Given the description of an element on the screen output the (x, y) to click on. 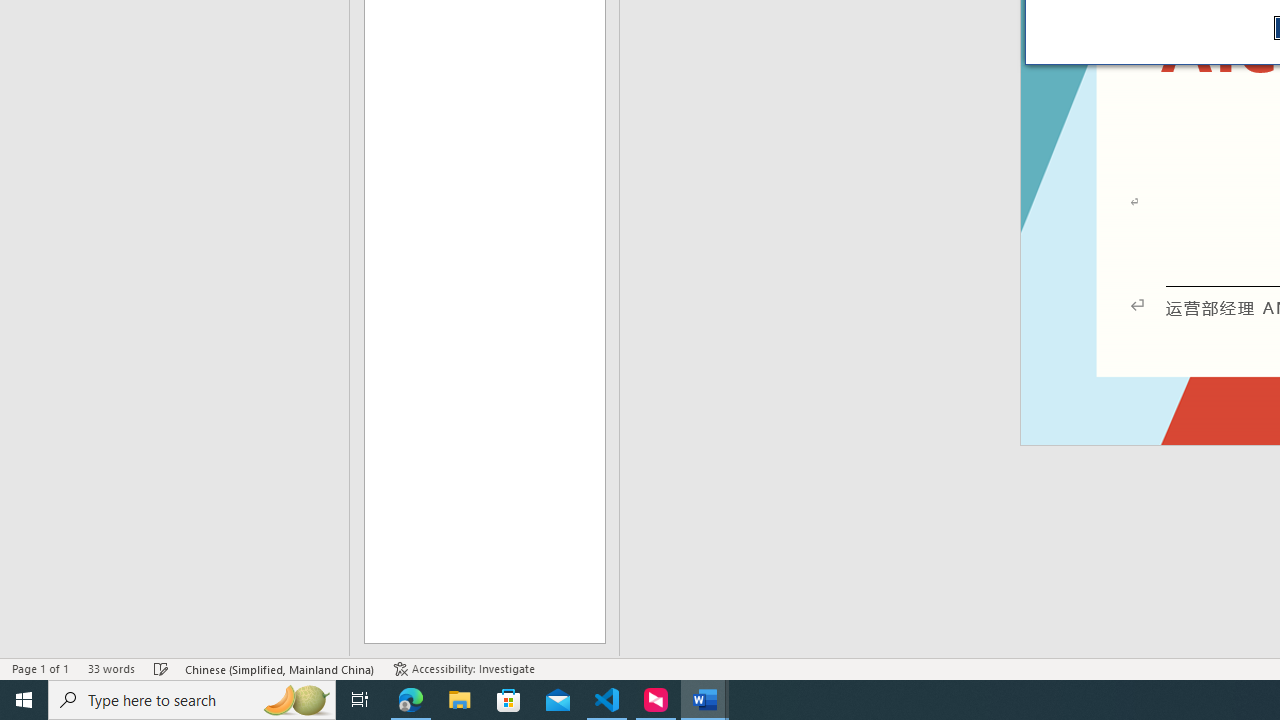
Start (24, 699)
